Given the description of an element on the screen output the (x, y) to click on. 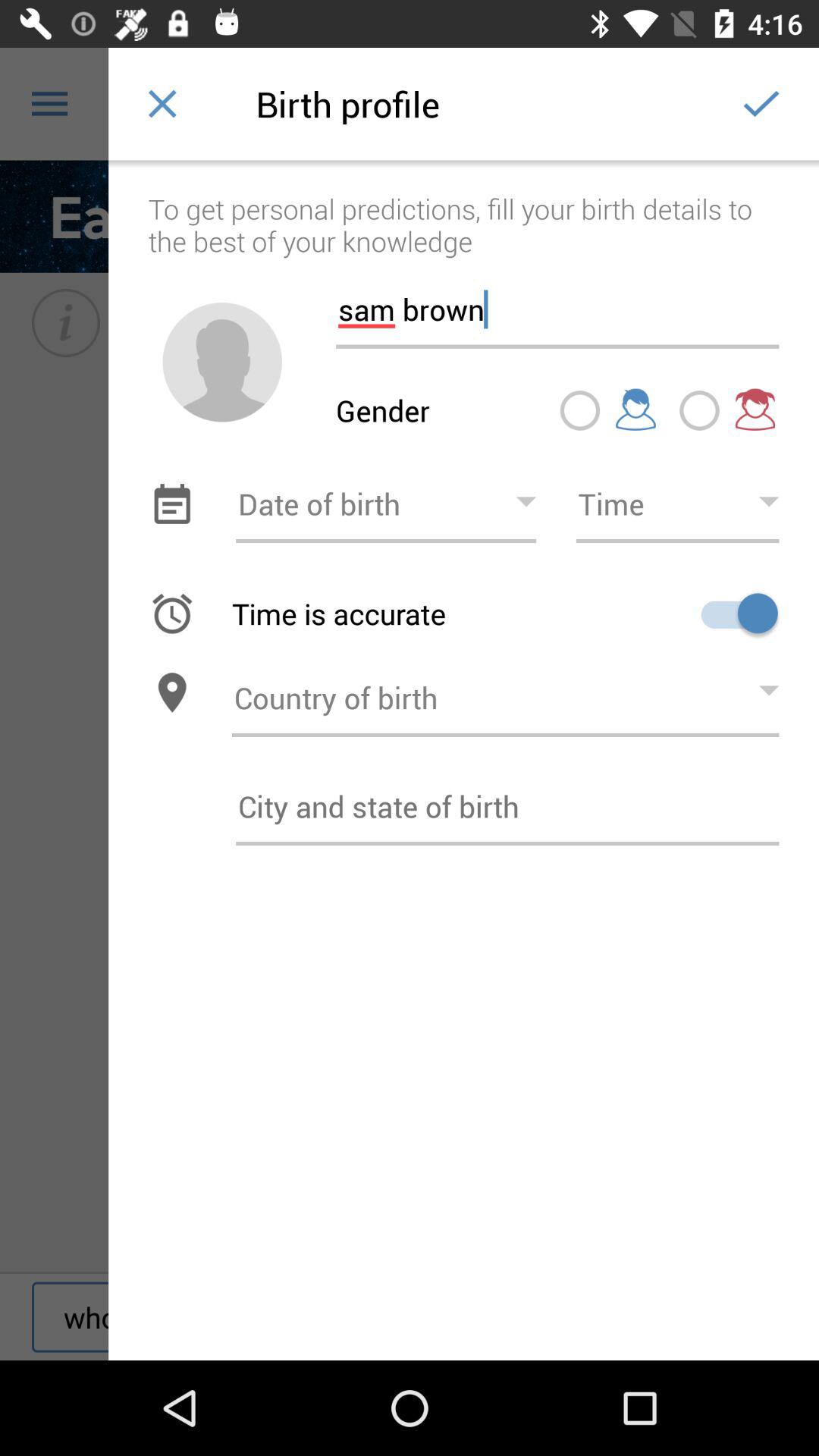
select the to get personal (463, 209)
